Given the description of an element on the screen output the (x, y) to click on. 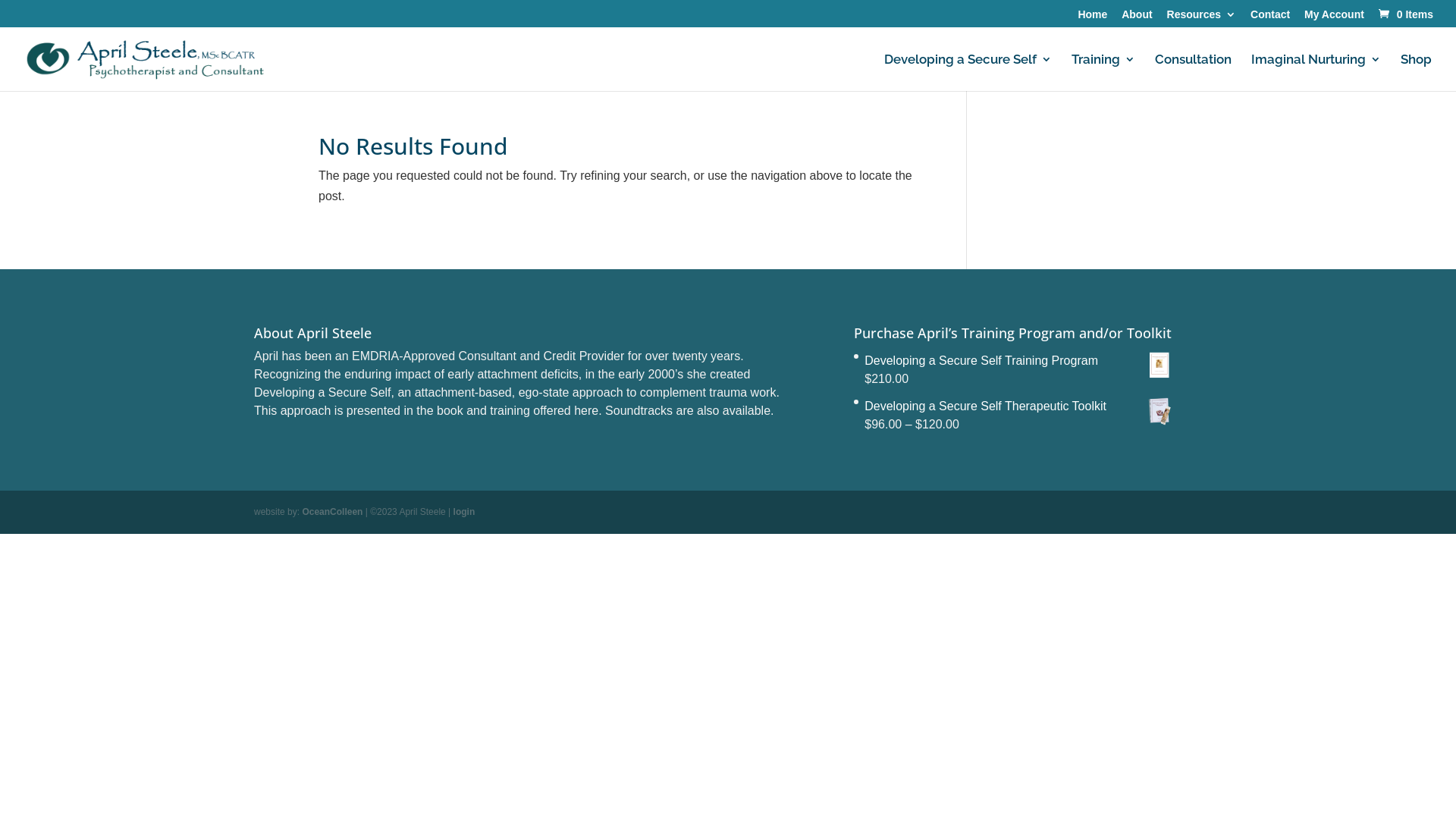
Imaginal Nurturing Element type: text (1315, 72)
Home Element type: text (1092, 18)
OceanColleen Element type: text (331, 511)
My Account Element type: text (1334, 18)
Contact Element type: text (1269, 18)
0 Items Element type: text (1404, 13)
Consultation Element type: text (1192, 72)
About Element type: text (1136, 18)
Developing a Secure Self Therapeutic Toolkit Element type: text (1017, 406)
Developing a Secure Self Element type: text (967, 72)
Resources Element type: text (1201, 18)
Training Element type: text (1103, 72)
Developing a Secure Self Training Program Element type: text (1017, 360)
login Element type: text (464, 511)
Shop Element type: text (1415, 72)
